Given the description of an element on the screen output the (x, y) to click on. 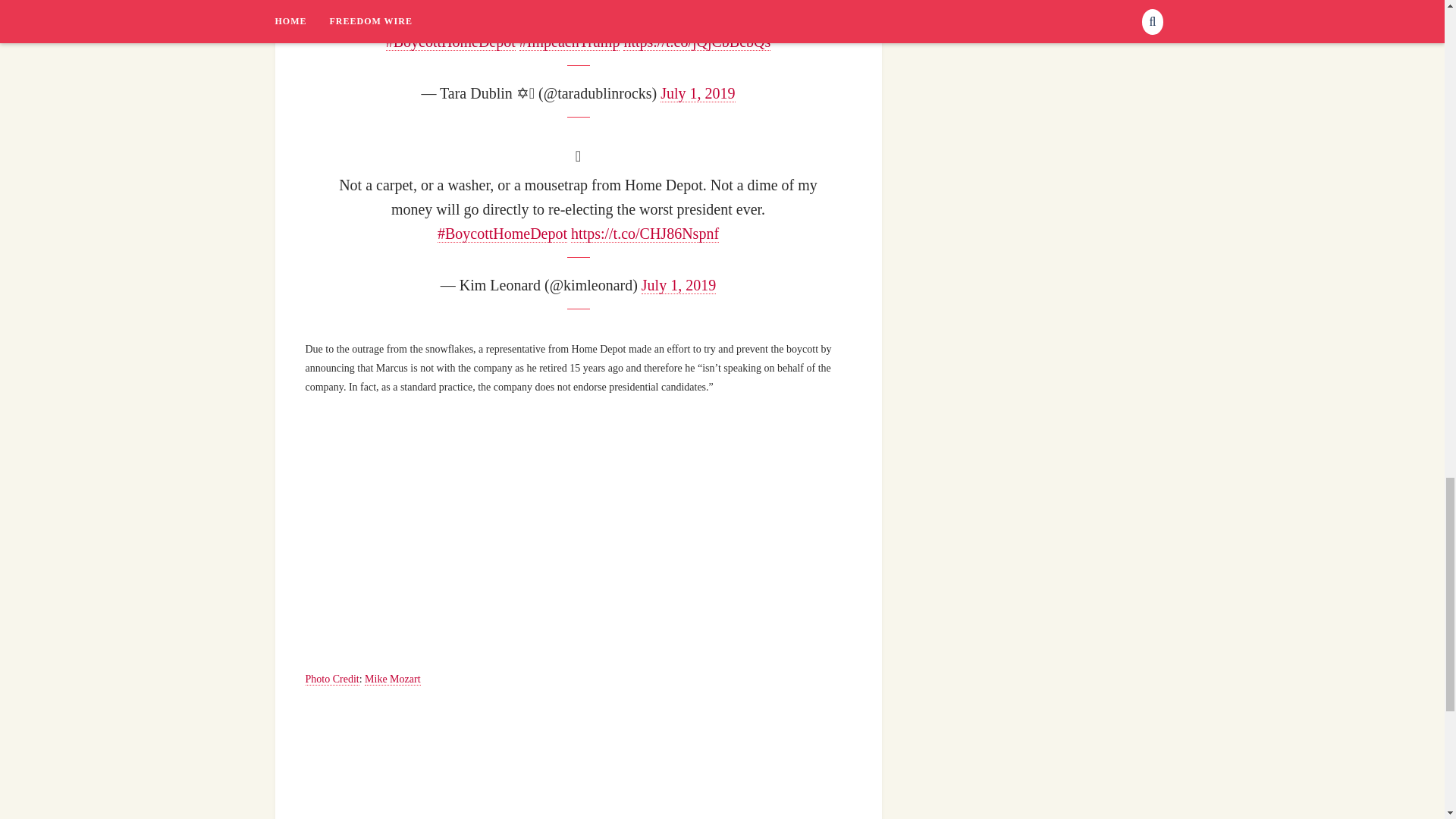
July 1, 2019 (698, 93)
Mike Mozart (392, 679)
July 1, 2019 (679, 285)
Photo Credit (331, 679)
